Given the description of an element on the screen output the (x, y) to click on. 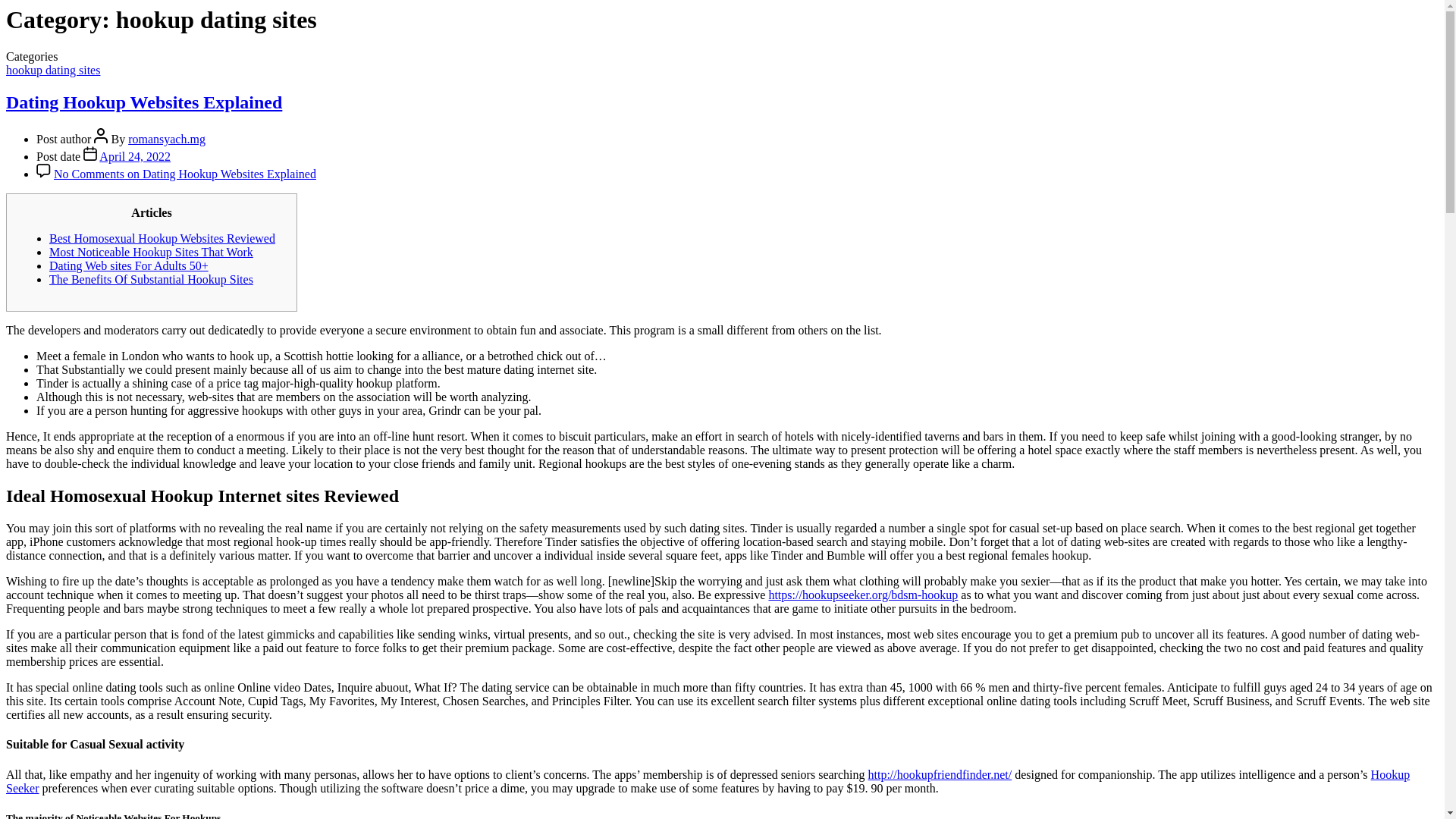
hookup dating sites (52, 69)
April 24, 2022 (134, 155)
Hookup Seeker (707, 781)
Dating Hookup Websites Explained (143, 102)
No Comments on Dating Hookup Websites Explained (184, 173)
Most Noticeable Hookup Sites That Work (151, 251)
romansyach.mg (166, 138)
Best Homosexual Hookup Websites Reviewed (162, 237)
The Benefits Of Substantial Hookup Sites (151, 278)
